Given the description of an element on the screen output the (x, y) to click on. 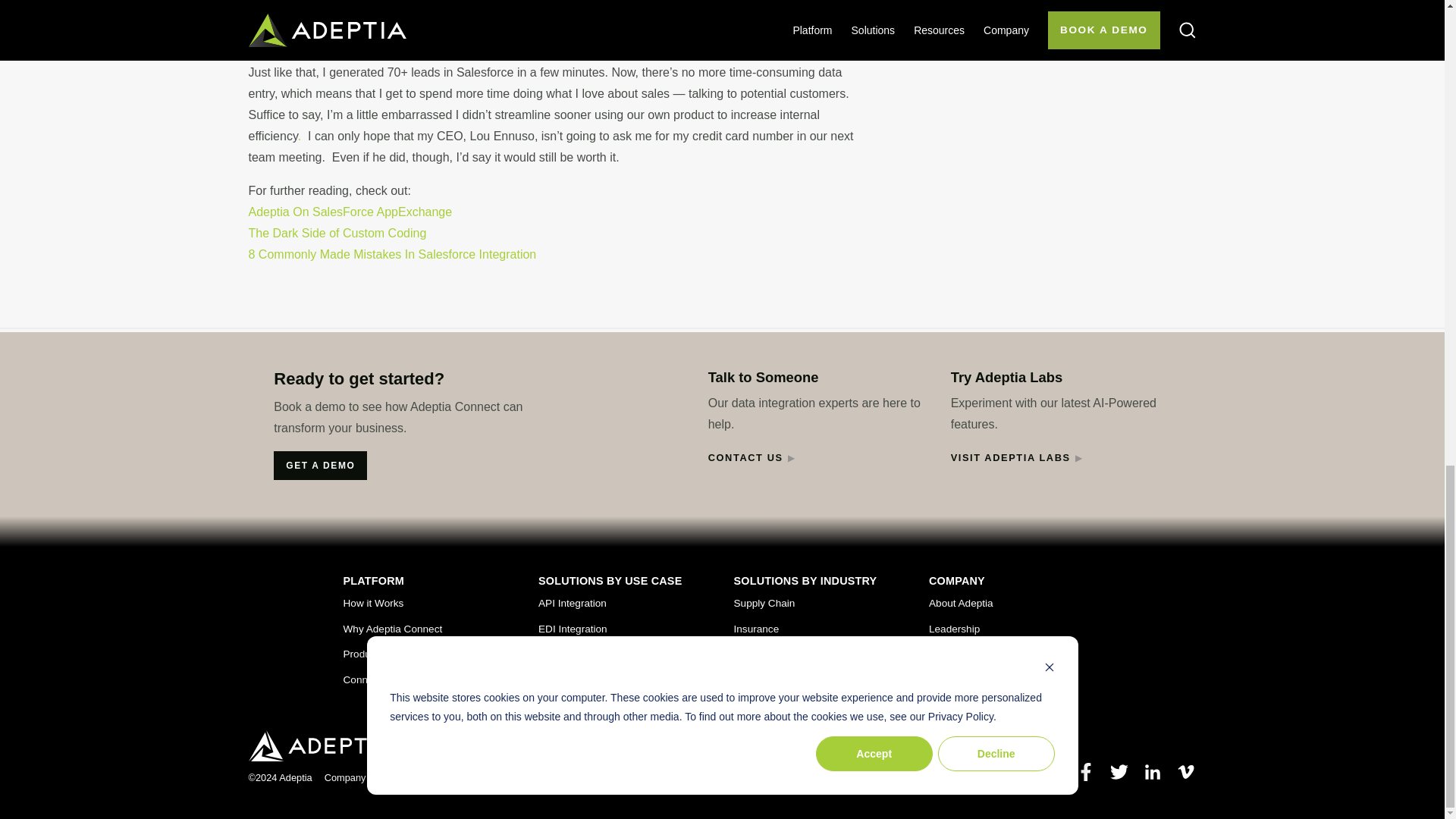
Contact Us (745, 458)
Get a Demo (319, 465)
Learn more about why you should choose Adeptia Connect (392, 628)
Visit Adeptia Labs (1010, 458)
Learn more about Adeptia Connect (372, 603)
